Given the description of an element on the screen output the (x, y) to click on. 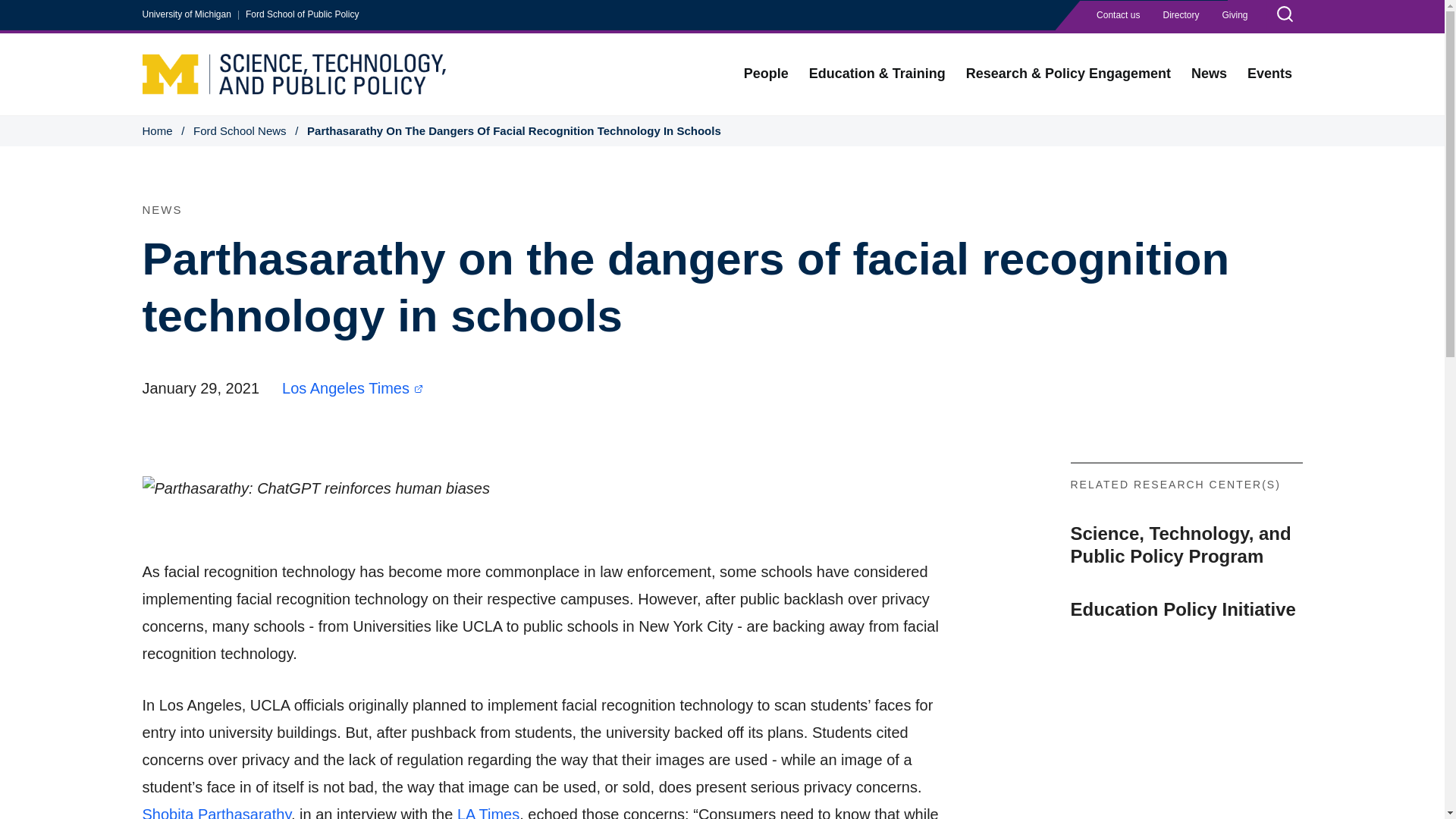
People (765, 74)
Home (293, 72)
Contact STPP (1118, 15)
Giving (1234, 15)
Give to STPP (1234, 15)
Contact us (1118, 15)
Directory (1179, 15)
University of Michigan (186, 14)
STPP Directory (1179, 15)
Ford School of Public Policy (302, 14)
Search Toggle (1283, 15)
People (765, 74)
